Given the description of an element on the screen output the (x, y) to click on. 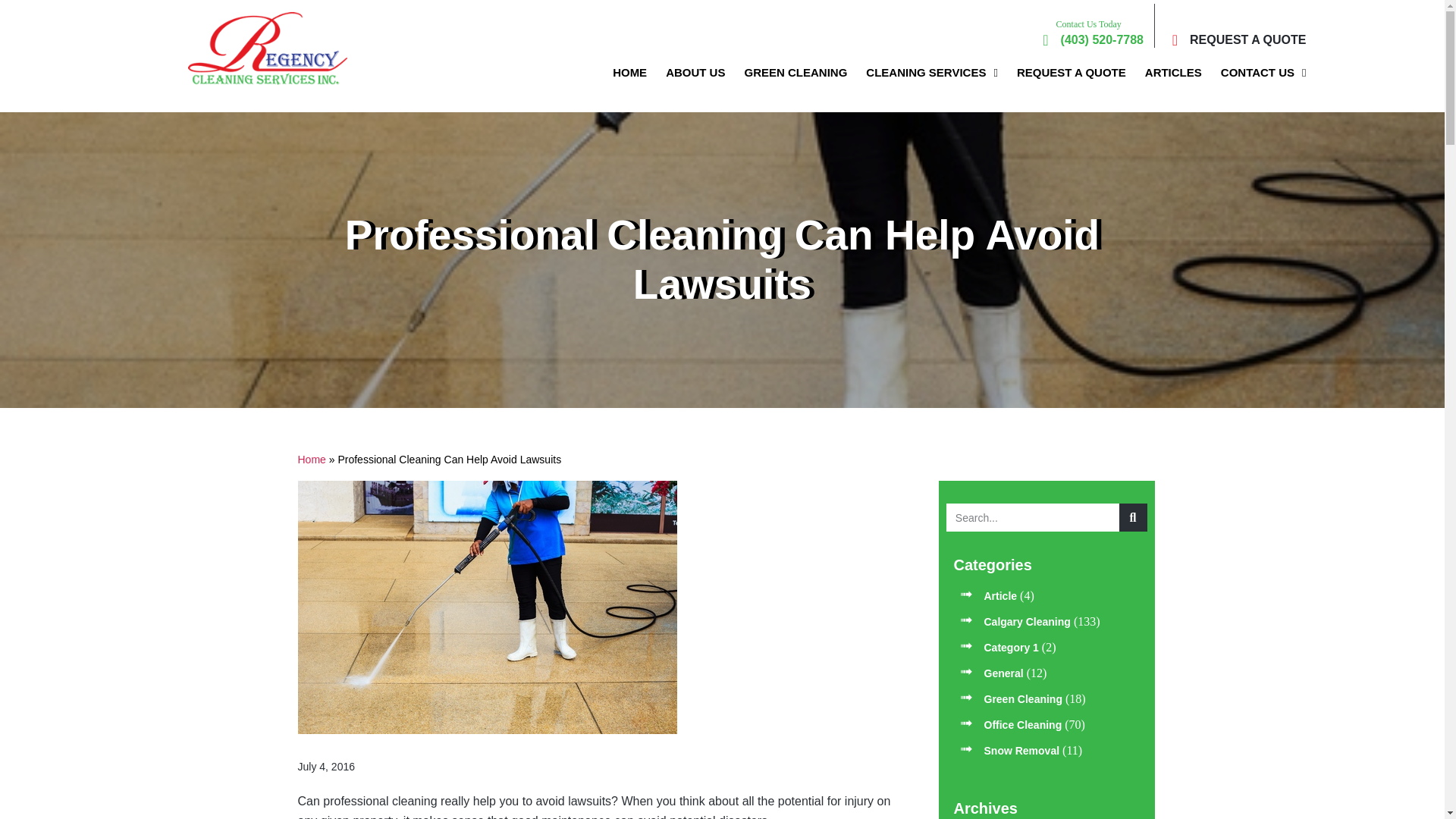
GREEN CLEANING (795, 72)
HOME (629, 72)
CONTACT US (1263, 72)
ARTICLES (1173, 72)
REQUEST A QUOTE (1070, 72)
CLEANING SERVICES (931, 72)
REQUEST A QUOTE (1232, 39)
ABOUT US (695, 72)
